Given the description of an element on the screen output the (x, y) to click on. 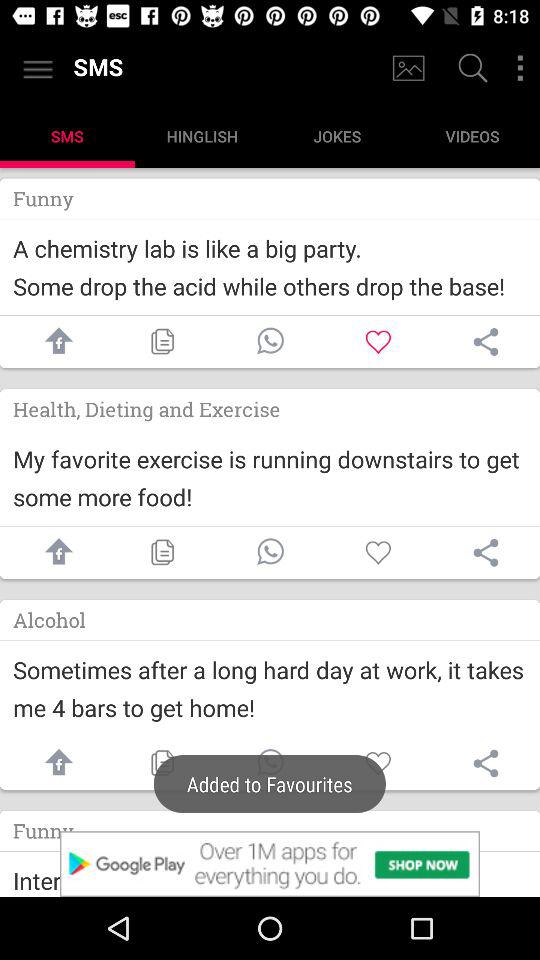
toggle favorite (378, 763)
